Given the description of an element on the screen output the (x, y) to click on. 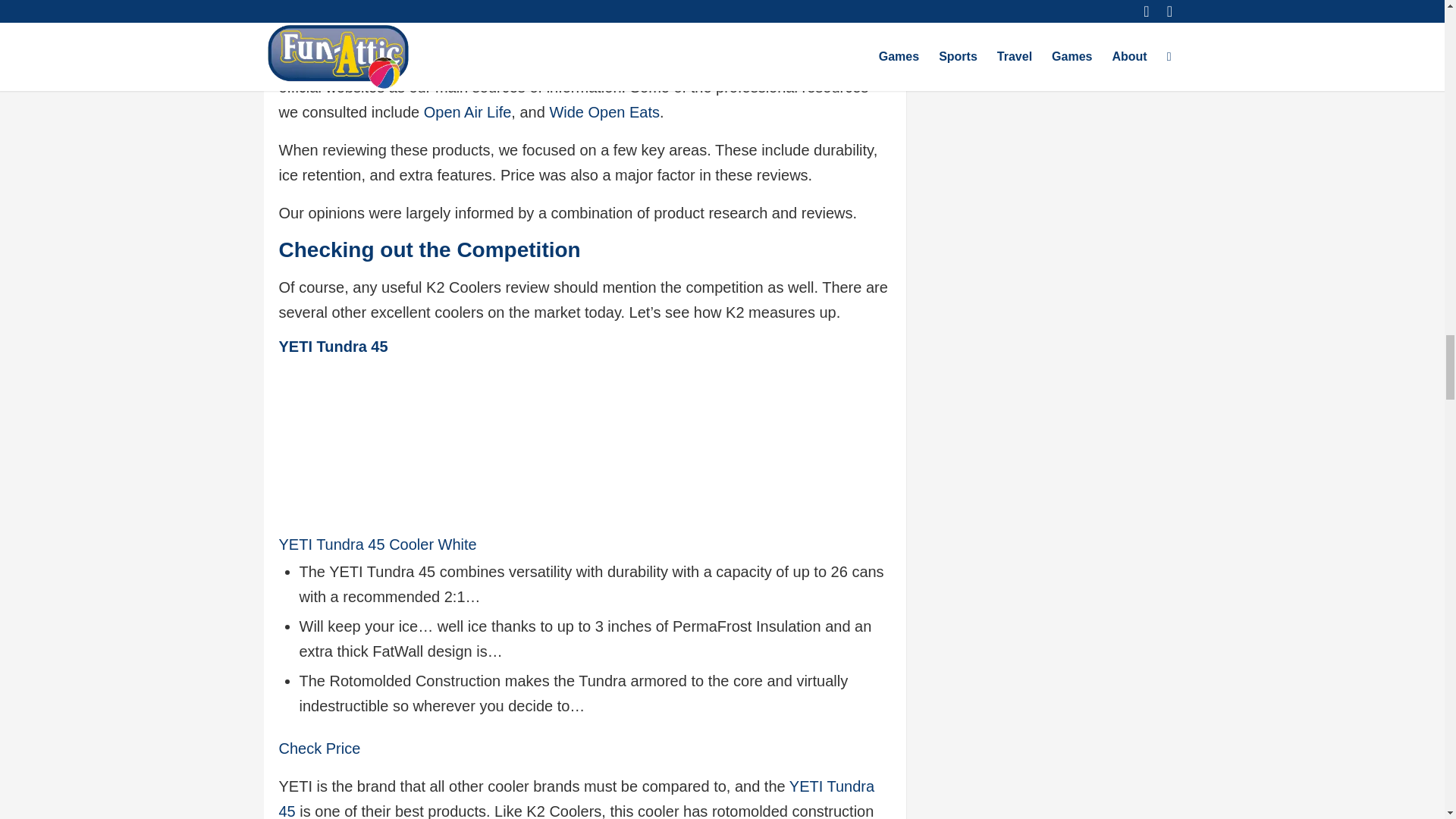
YETI Tundra 45 Cooler White (378, 557)
Wide Open Eats (603, 112)
YETI Tundra 45 (577, 798)
Check Price (320, 748)
Open Air Life (467, 112)
